Given the description of an element on the screen output the (x, y) to click on. 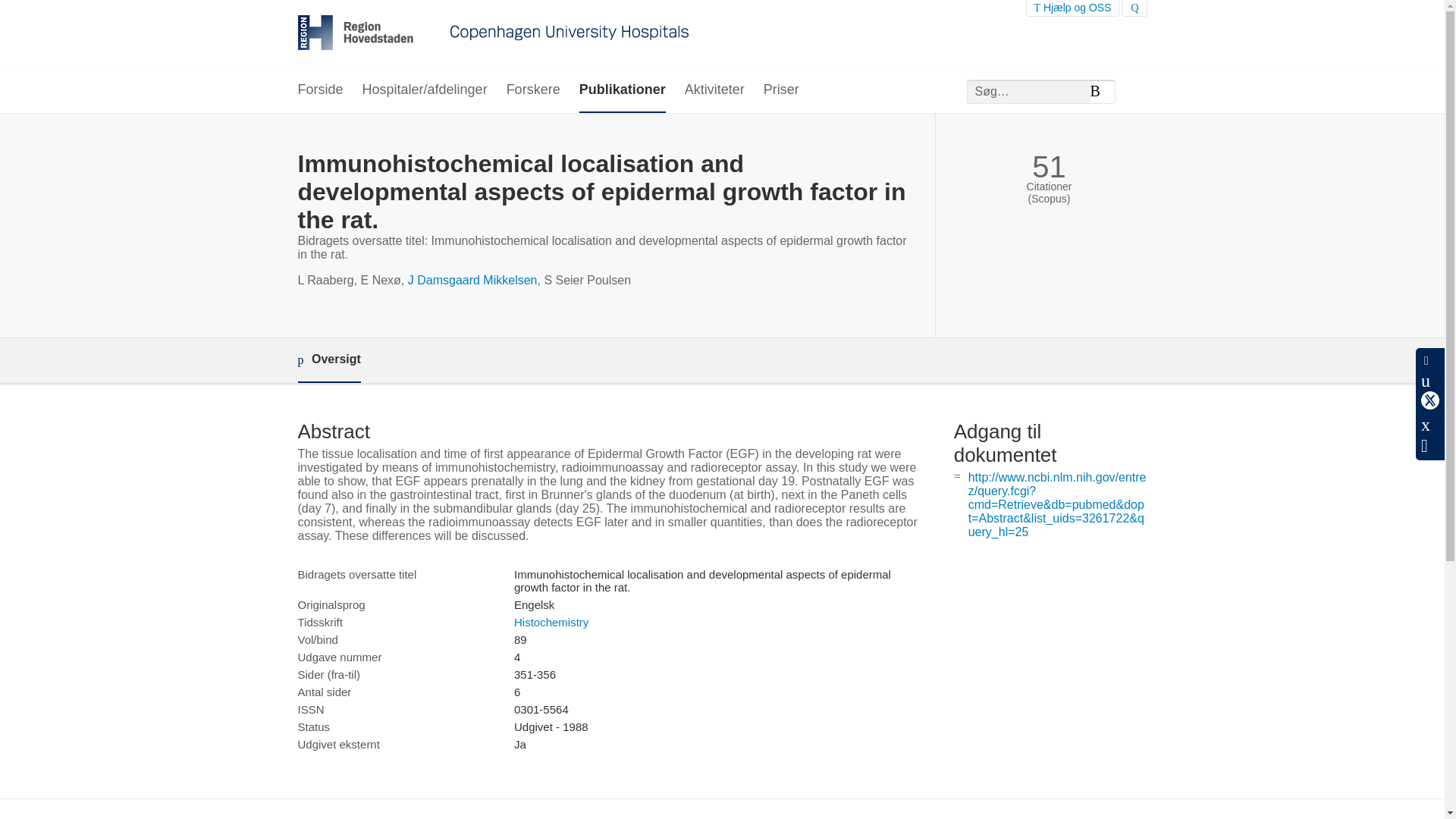
Forside (319, 90)
Forskere (533, 90)
Aktiviteter (714, 90)
Publikationer (622, 90)
Histochemistry (550, 621)
J Damsgaard Mikkelsen (472, 279)
Region Hovedstadens forskningsportal Forside (492, 34)
Oversigt (328, 360)
